Given the description of an element on the screen output the (x, y) to click on. 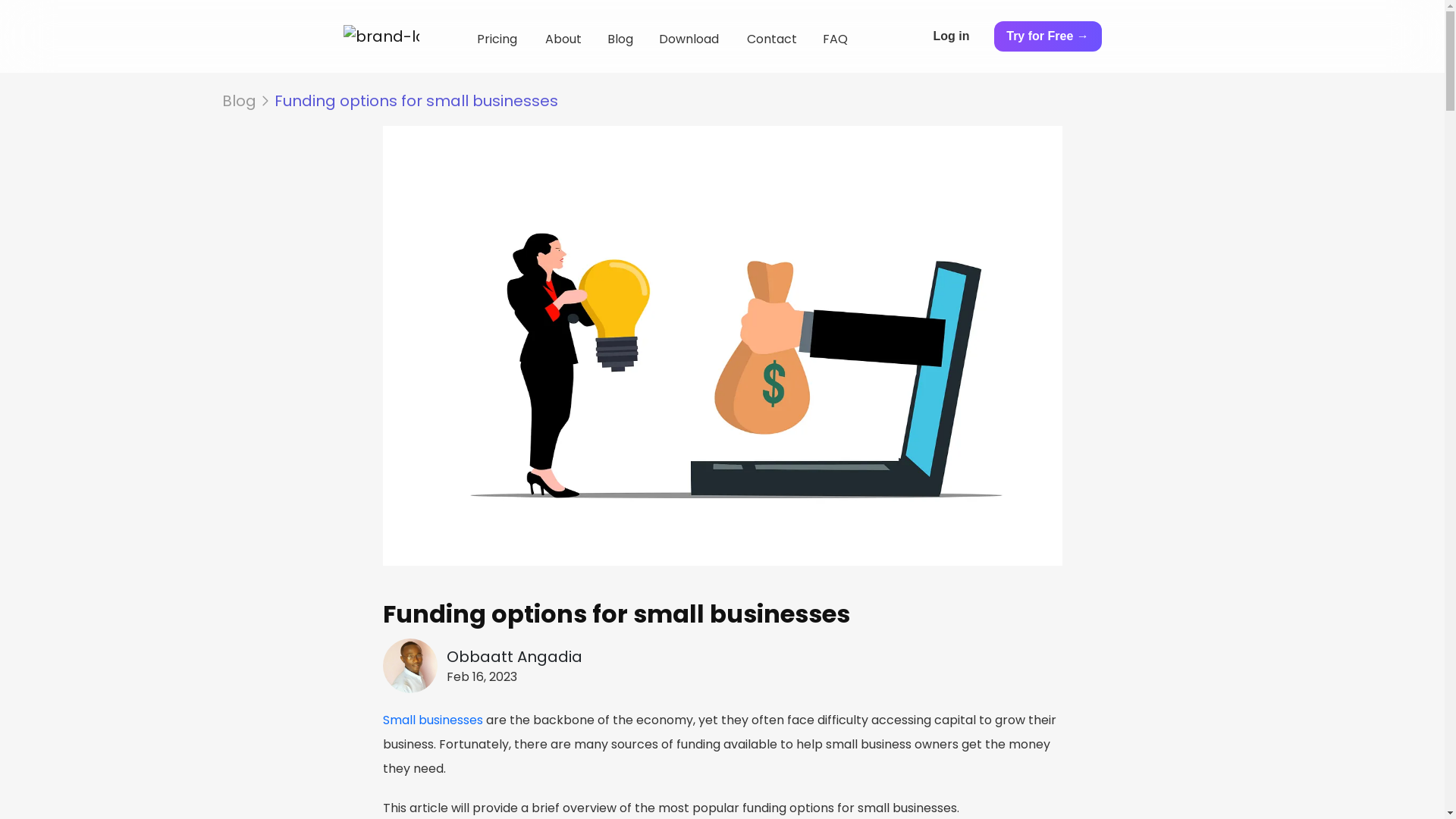
Download (690, 39)
Contact (771, 39)
Blog (238, 100)
FAQ (844, 39)
Small businesses (432, 719)
Pricing (497, 39)
Blog (620, 39)
Log in (963, 36)
About (563, 39)
